Given the description of an element on the screen output the (x, y) to click on. 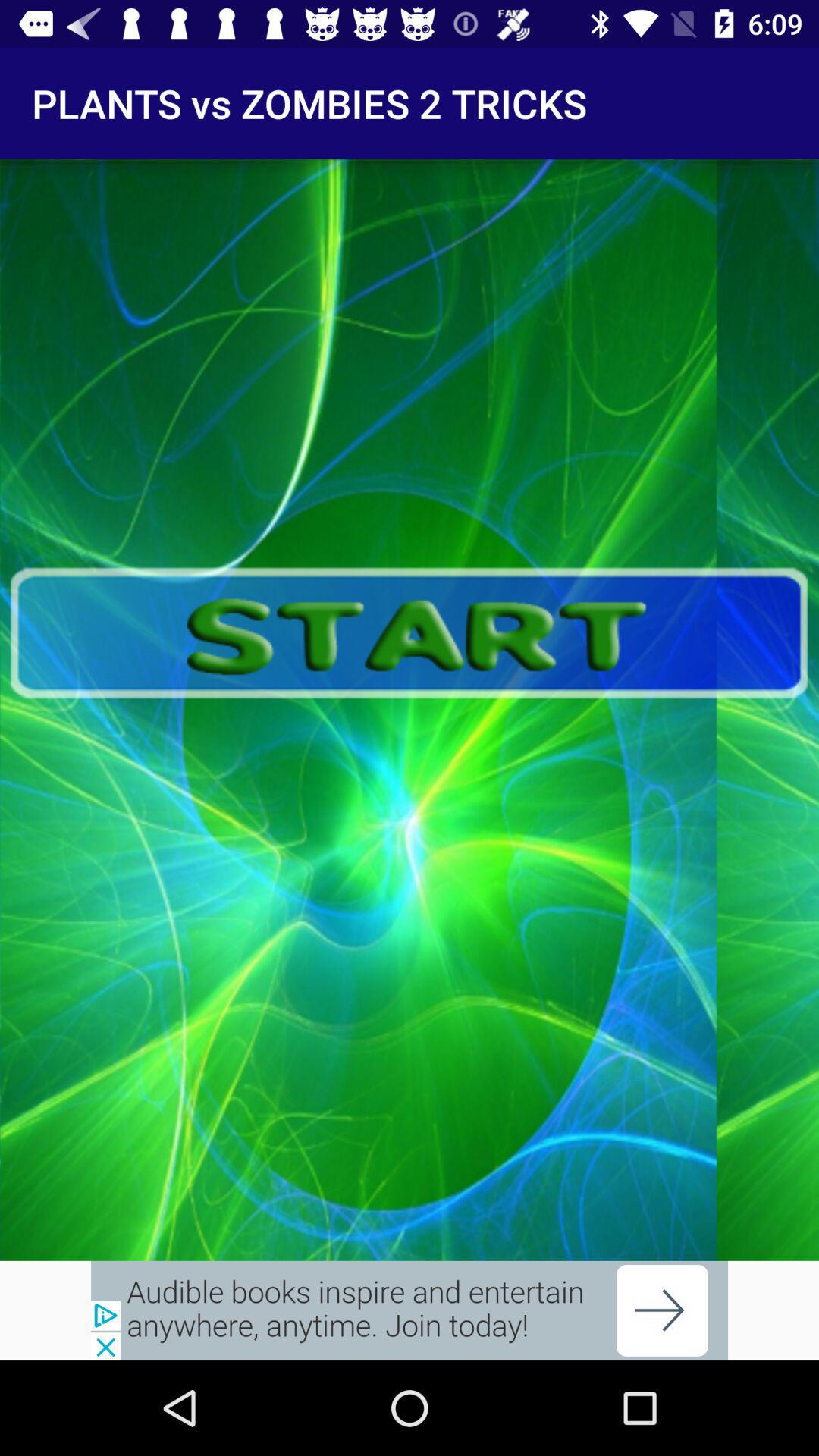
advertise banner (409, 1310)
